Given the description of an element on the screen output the (x, y) to click on. 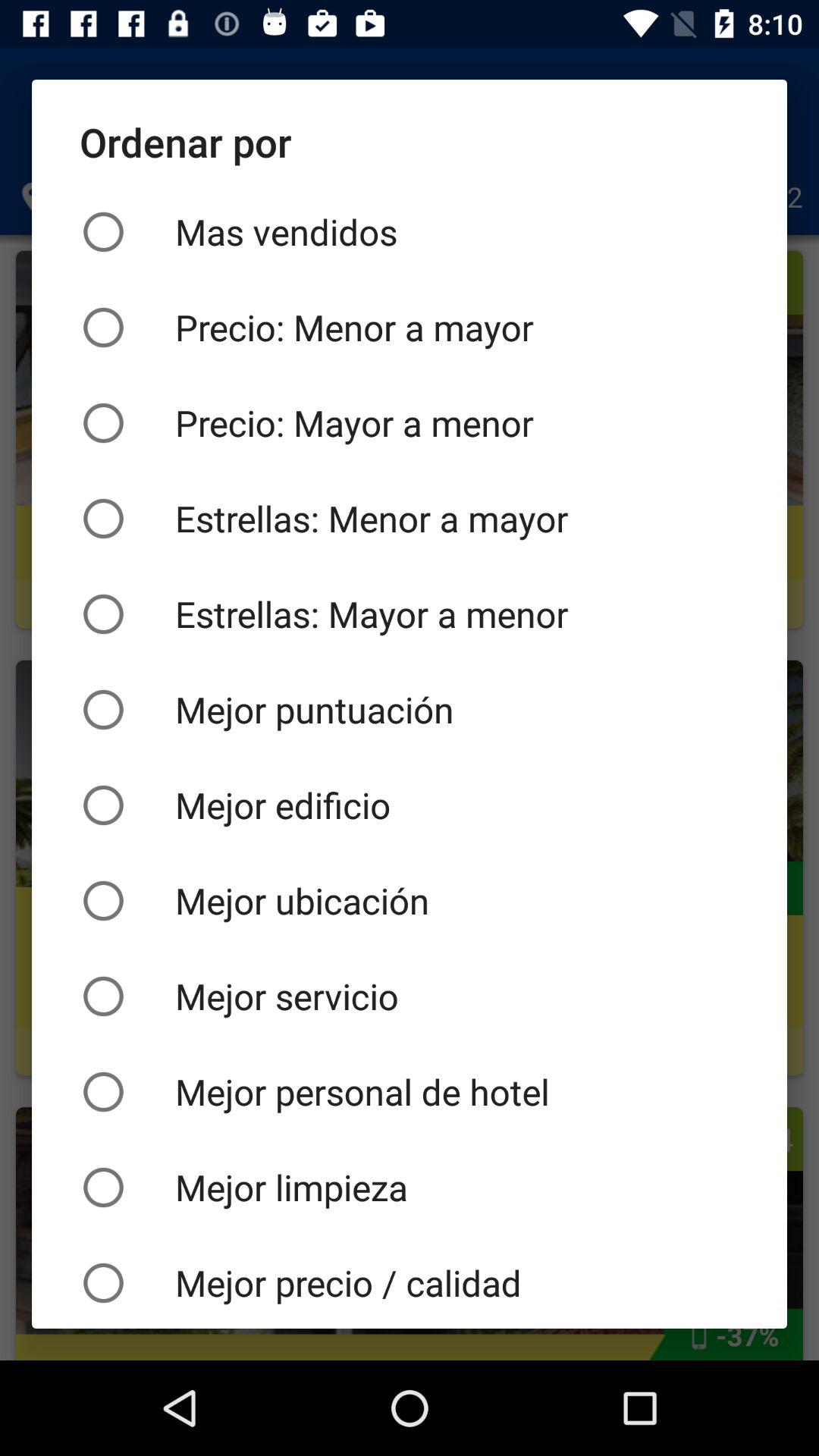
choose the mejor personal de icon (409, 1091)
